Given the description of an element on the screen output the (x, y) to click on. 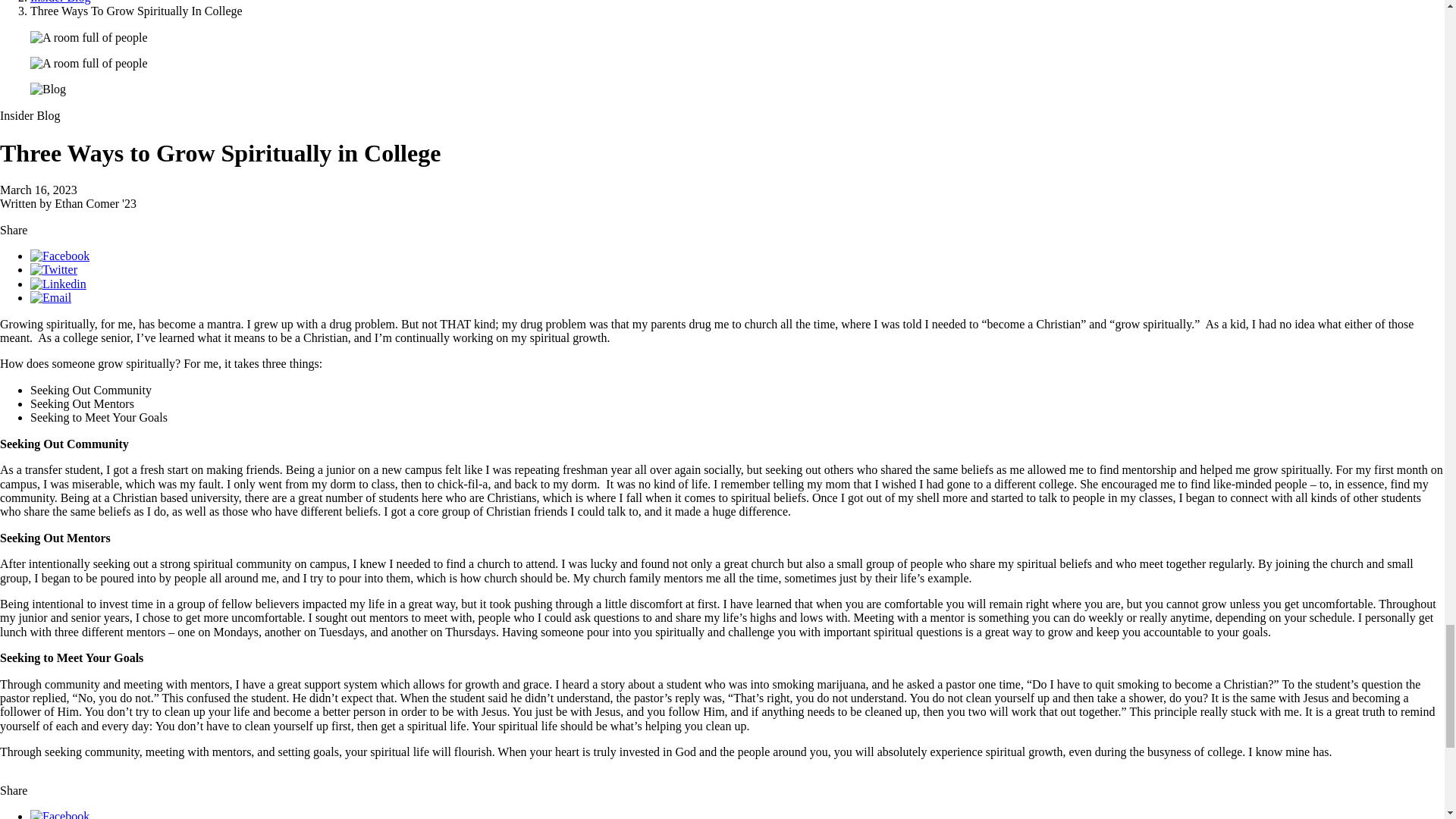
Facebook (59, 255)
Twitter (53, 269)
Email (50, 297)
Linkedin (57, 283)
Facebook (59, 814)
